Given the description of an element on the screen output the (x, y) to click on. 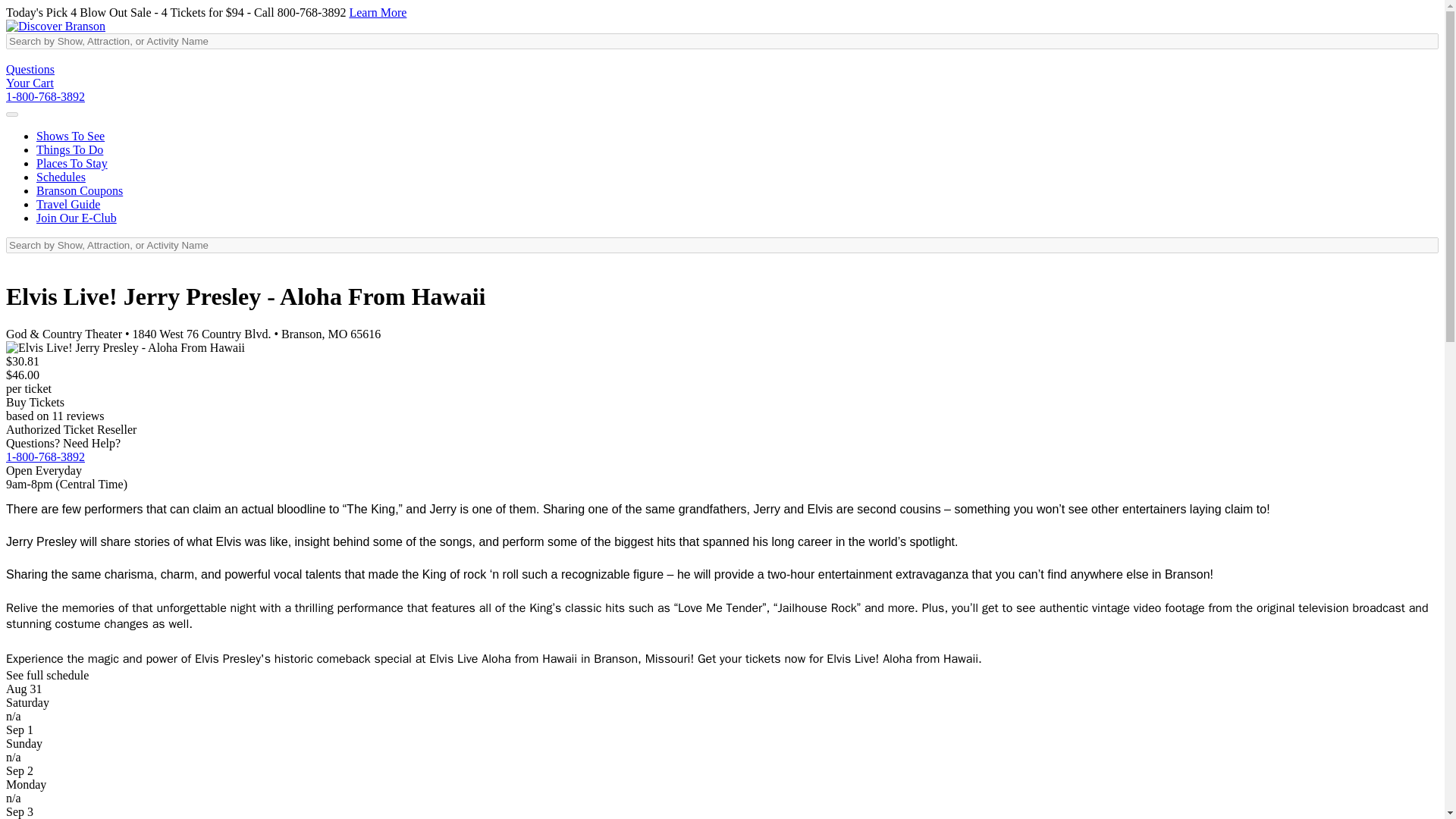
Learn More (377, 11)
1-800-768-3892 (44, 96)
Places To Stay (71, 163)
Things To Do in Branson, Missouri (69, 149)
Things To Do (69, 149)
1-800-768-3892 (44, 456)
Discover Branson (54, 25)
Shows To See in Branson, Missouri (70, 135)
Schedules (60, 176)
Weekly Schedules (60, 176)
